Given the description of an element on the screen output the (x, y) to click on. 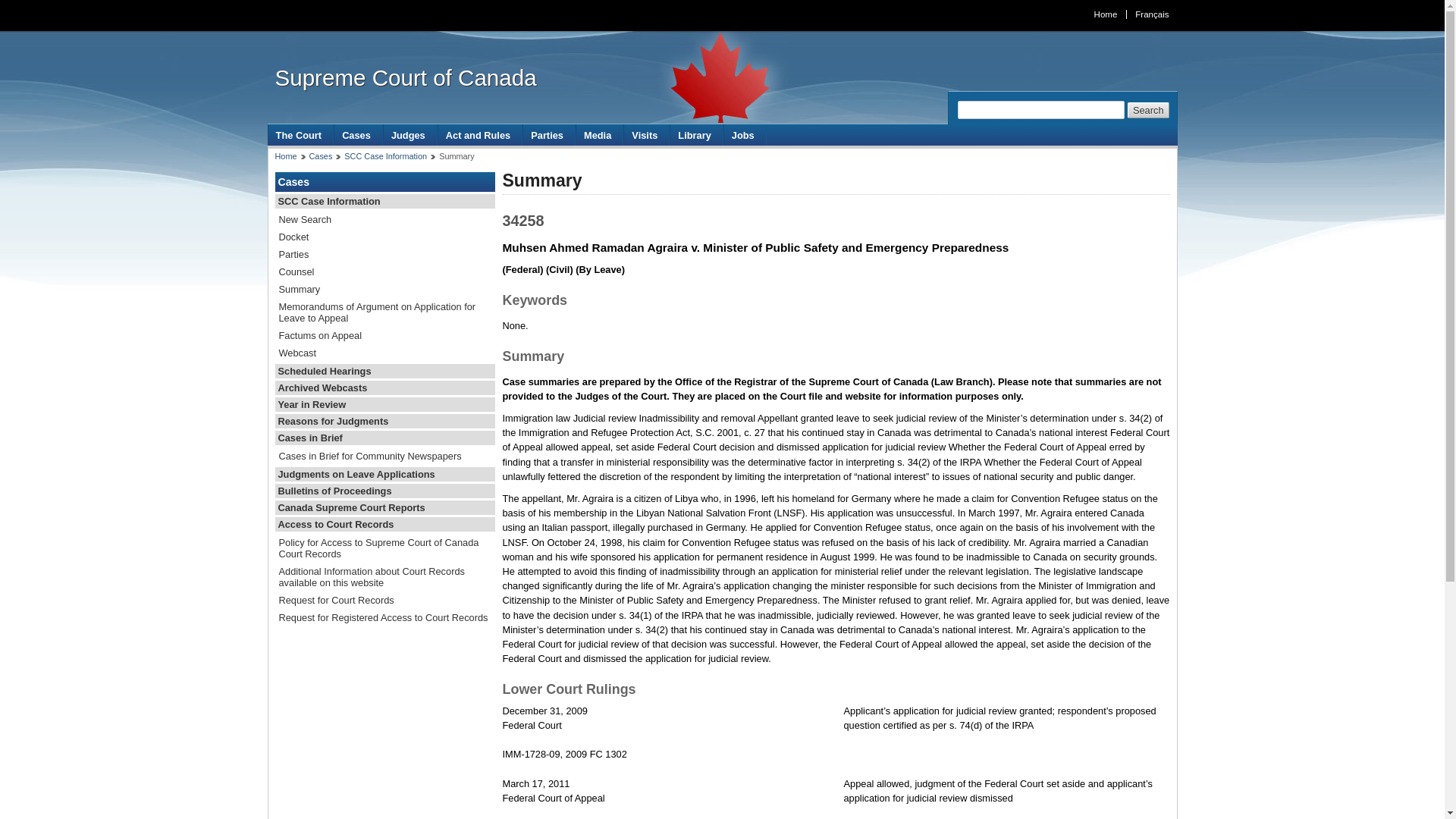
Search (1147, 109)
Home (1104, 13)
The Court (300, 134)
Supreme Court of Canada (405, 77)
Judges (410, 134)
Search (1147, 109)
Skip to main content (726, 11)
Cases (357, 134)
